Given the description of an element on the screen output the (x, y) to click on. 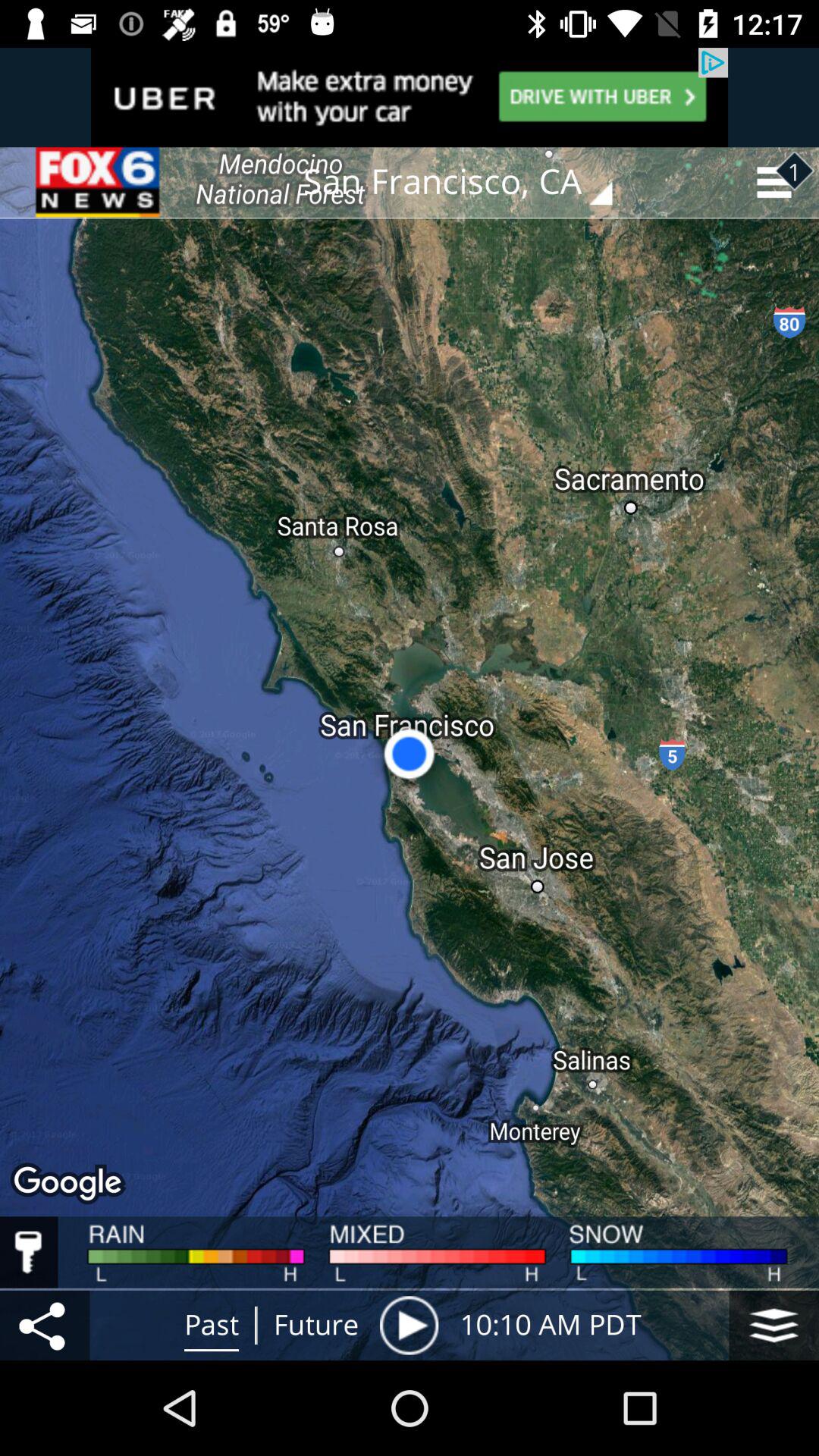
select item to the left of 10 10 am icon (409, 1325)
